Given the description of an element on the screen output the (x, y) to click on. 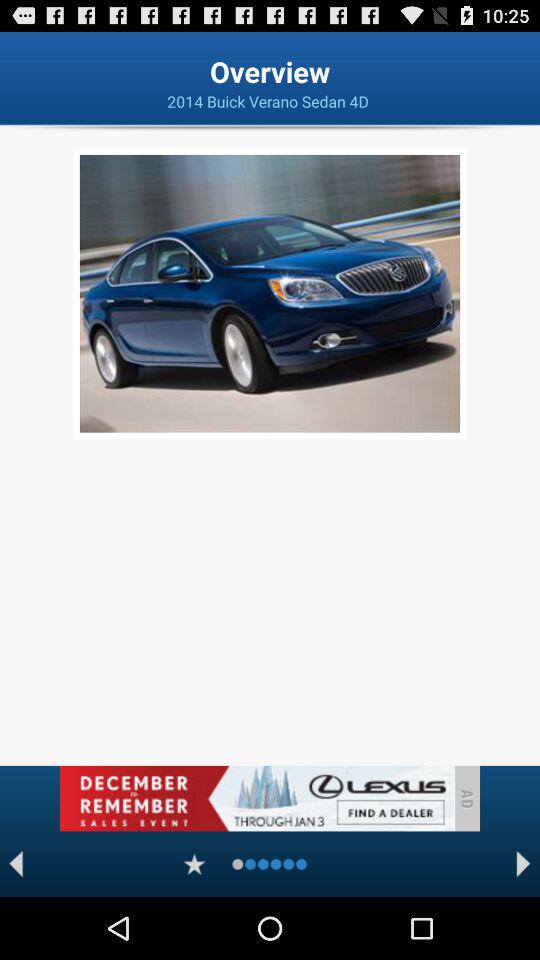
select advertisement (256, 798)
